Given the description of an element on the screen output the (x, y) to click on. 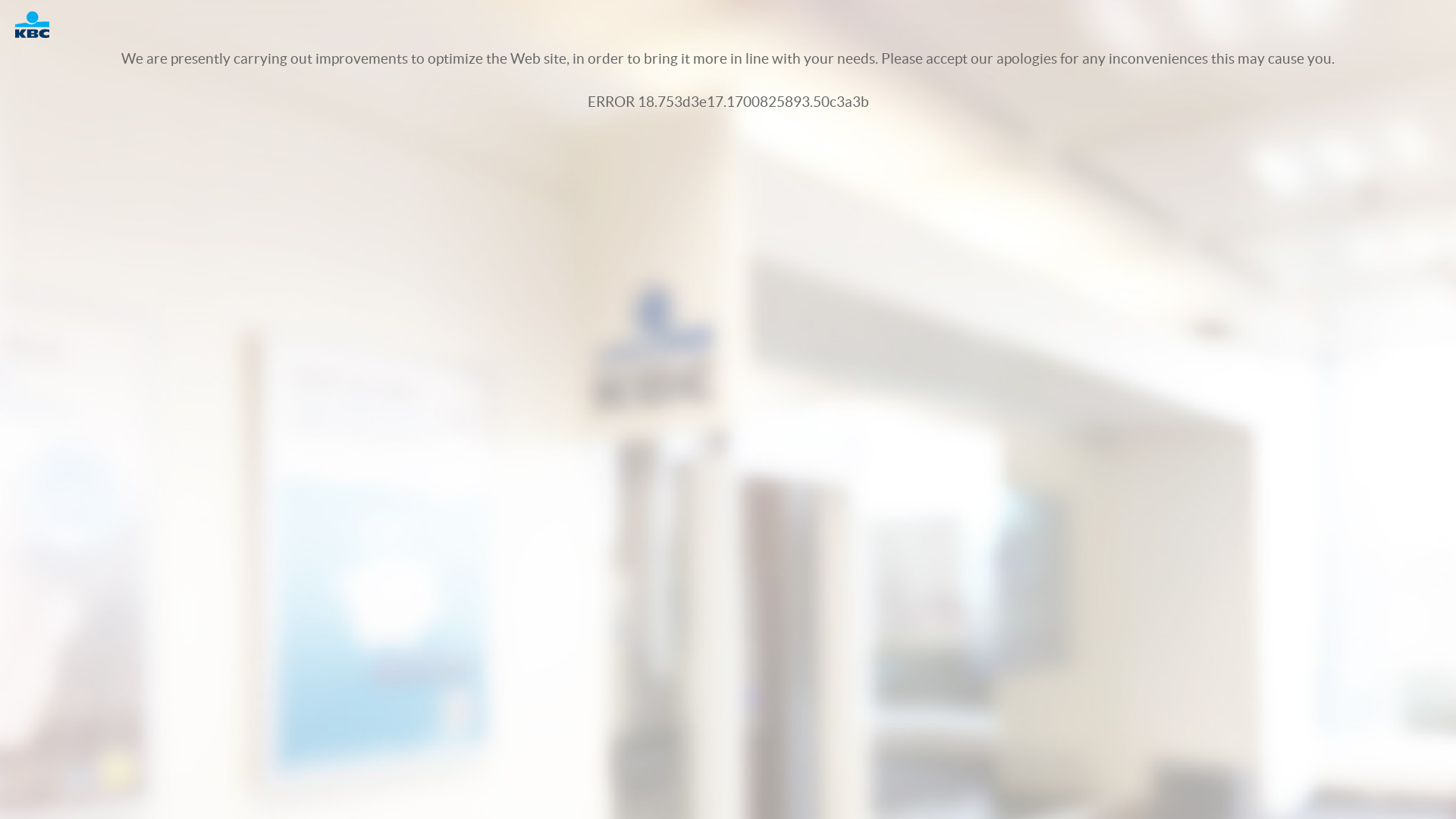
Logo Element type: text (39, 24)
